Given the description of an element on the screen output the (x, y) to click on. 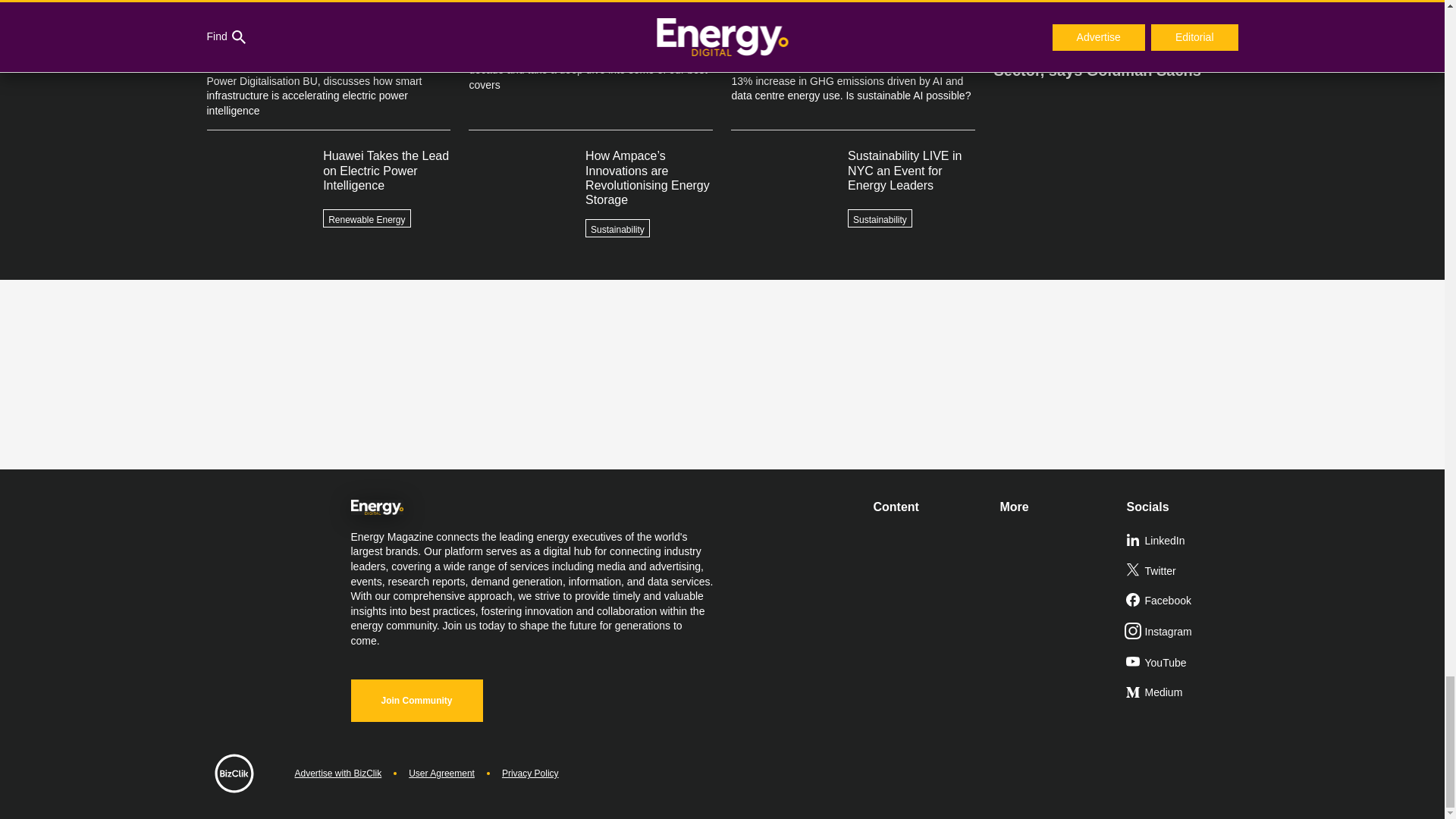
AI Critical to Success of Energy Sector, says Goldman Sachs (1114, 54)
